Given the description of an element on the screen output the (x, y) to click on. 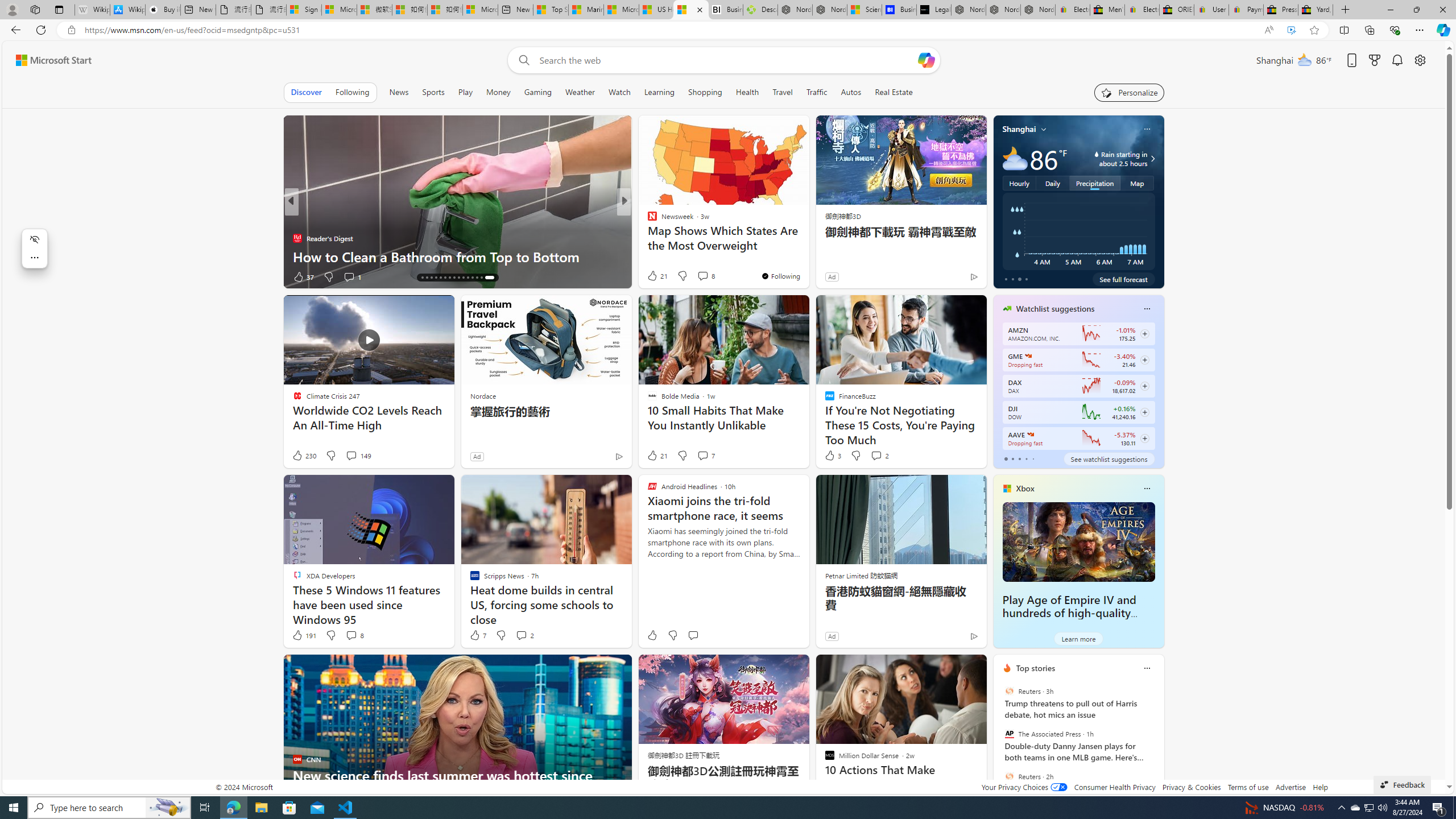
AutomationID: tab-25 (470, 277)
You're following The Weather Channel (949, 279)
The Weather Channel (647, 219)
View comments 2 Comment (521, 635)
AutomationID: tab-27 (478, 277)
